Given the description of an element on the screen output the (x, y) to click on. 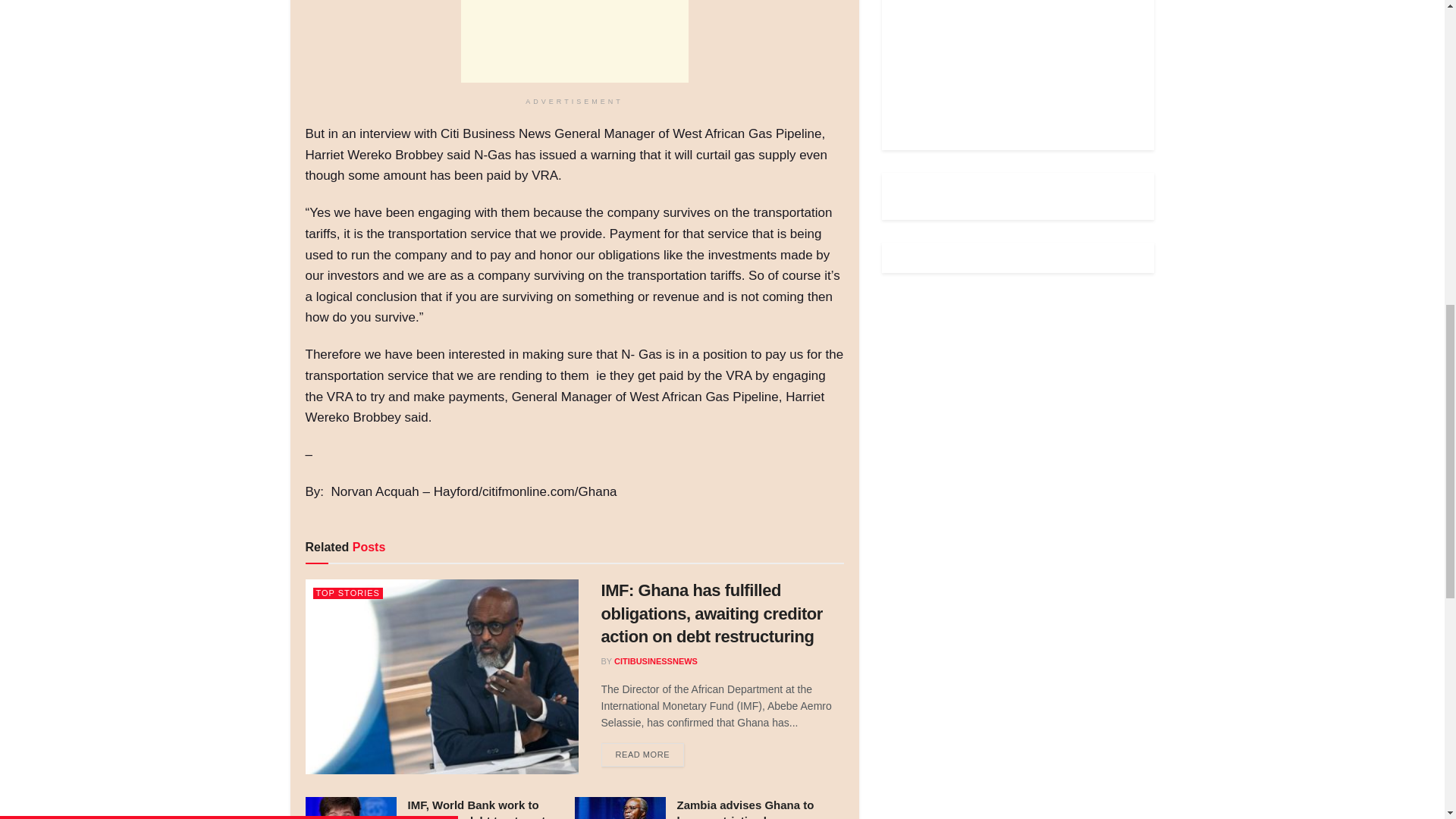
Advertisement (1010, 64)
Advertisement (574, 41)
